Given the description of an element on the screen output the (x, y) to click on. 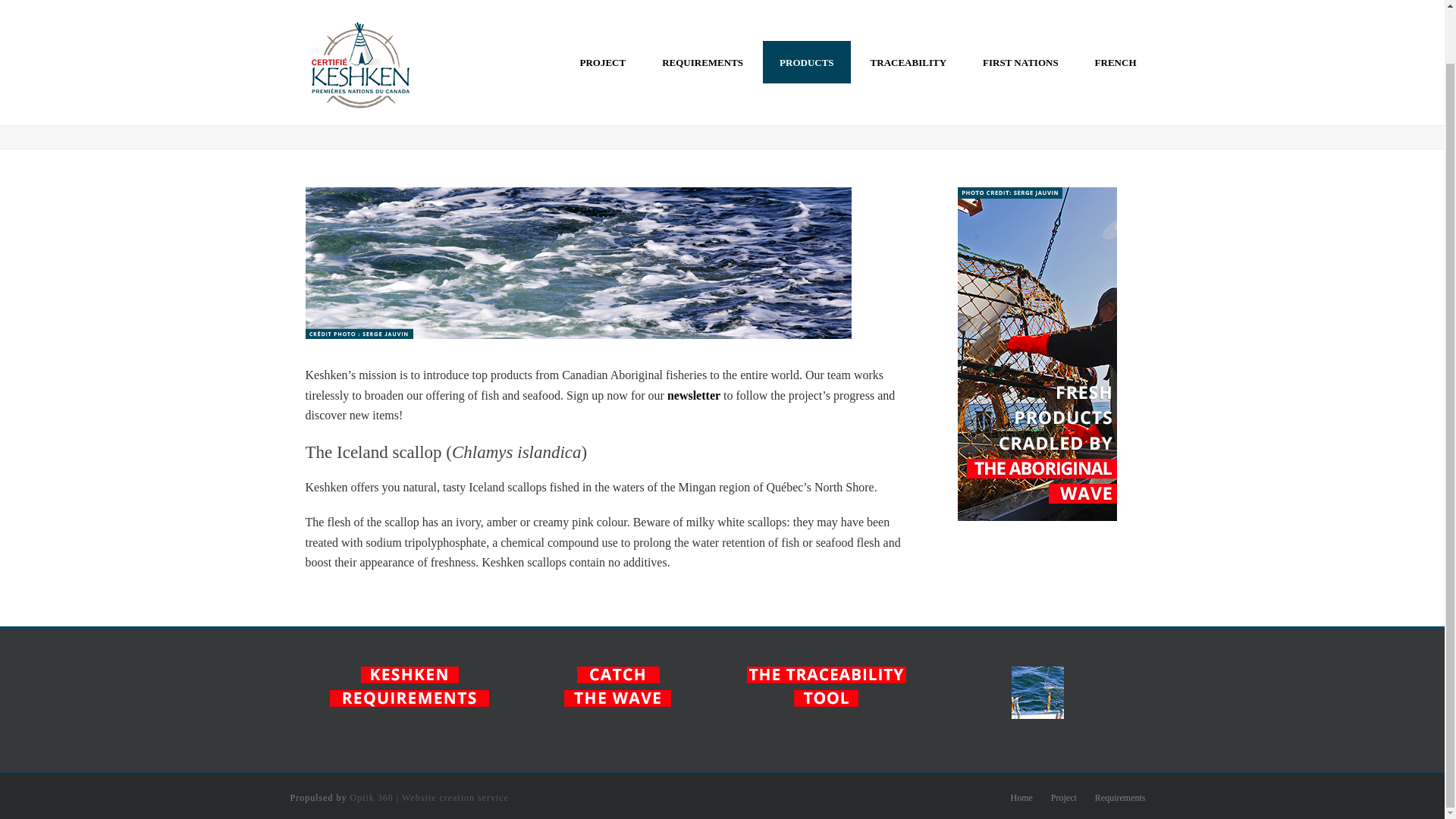
PRODUCTS (806, 12)
FRENCH (1115, 12)
French (1115, 12)
FIRST NATIONS (1020, 12)
Home (1021, 797)
FIRST NATIONS (1020, 12)
TRACEABILITY (907, 12)
PROJECT (602, 12)
REQUIREMENTS (702, 12)
PRODUCTS (806, 12)
REQUIREMENTS (702, 12)
PROJECT (602, 12)
TRACEABILITY (907, 12)
Project (1064, 797)
FRENCH (1115, 12)
